Given the description of an element on the screen output the (x, y) to click on. 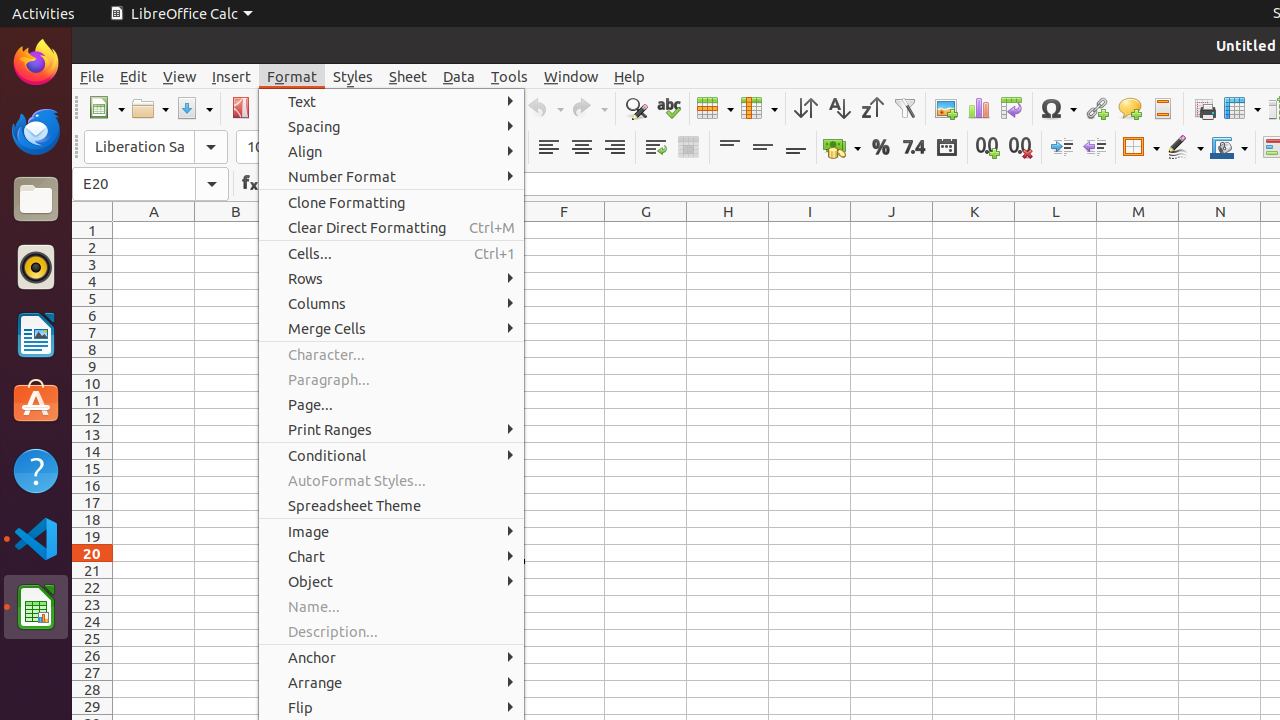
Column Element type: push-button (759, 108)
Delete Decimal Place Element type: push-button (1020, 147)
Help Element type: push-button (36, 470)
L1 Element type: table-cell (1056, 230)
M1 Element type: table-cell (1138, 230)
